Given the description of an element on the screen output the (x, y) to click on. 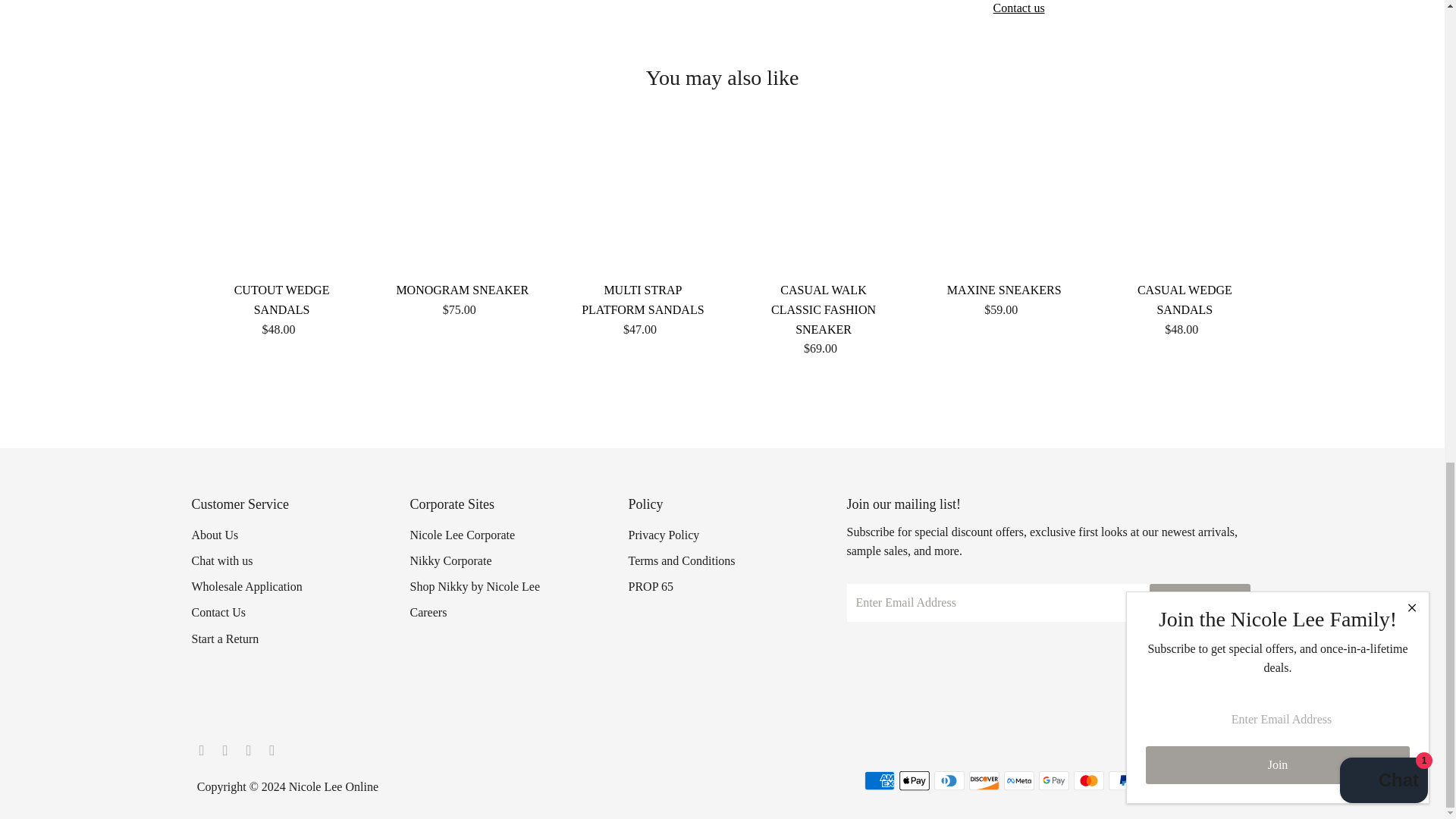
Diners Club (948, 780)
CASUAL WALK CLASSIC FASHION SNEAKER (823, 202)
PayPal (1123, 780)
CUTOUT WEDGE SANDALS (280, 202)
Discover (983, 780)
Venmo (1192, 780)
Google Pay (1053, 780)
Join (1200, 602)
Visa (1227, 780)
Mastercard (1088, 780)
MULTI STRAP PLATFORM SANDALS (643, 202)
MONOGRAM SNEAKER (462, 202)
Apple Pay (914, 780)
CASUAL WEDGE SANDALS (1184, 202)
MAXINE SNEAKERS (1004, 202)
